Given the description of an element on the screen output the (x, y) to click on. 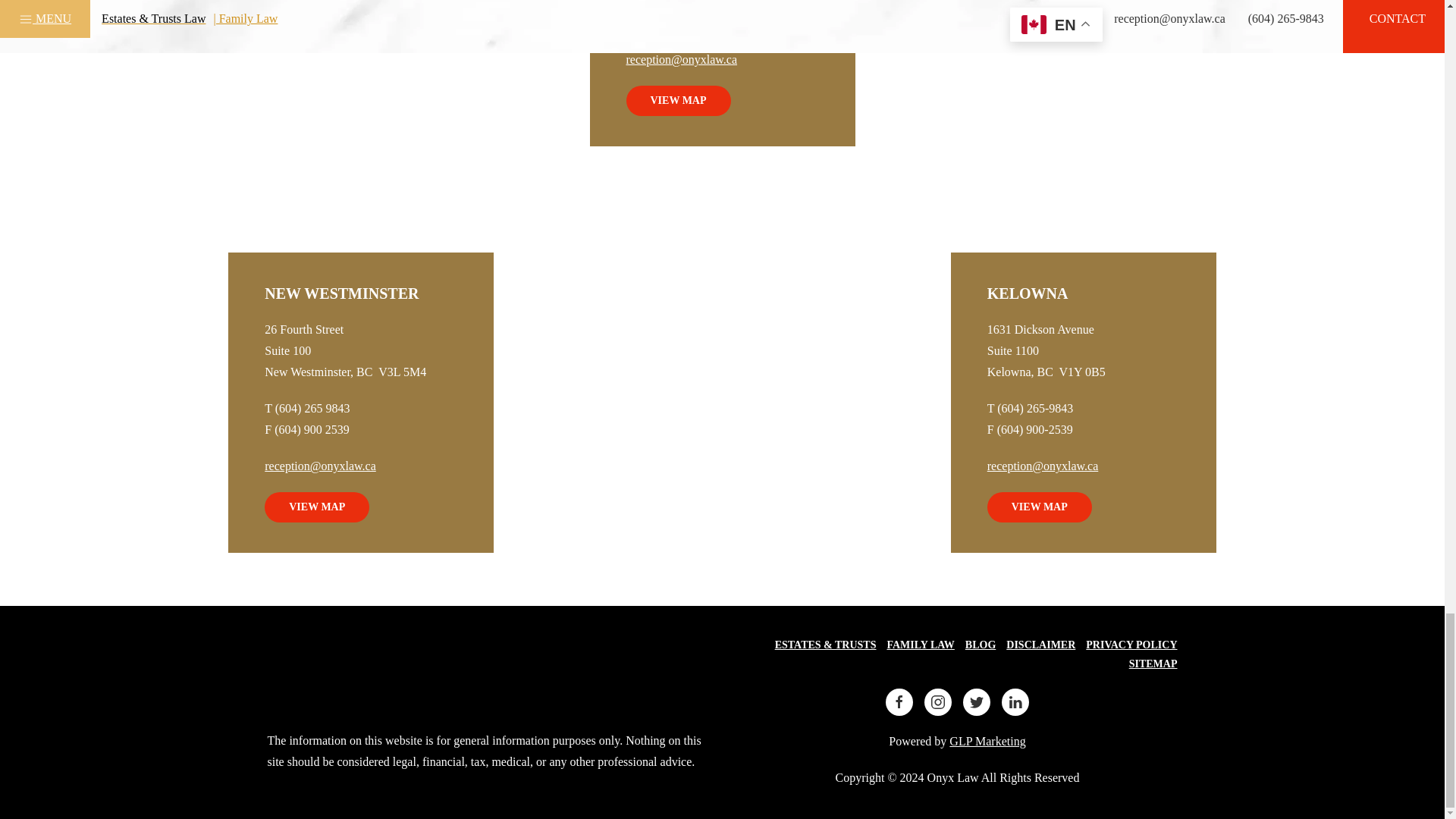
VIEW MAP (678, 100)
